Given the description of an element on the screen output the (x, y) to click on. 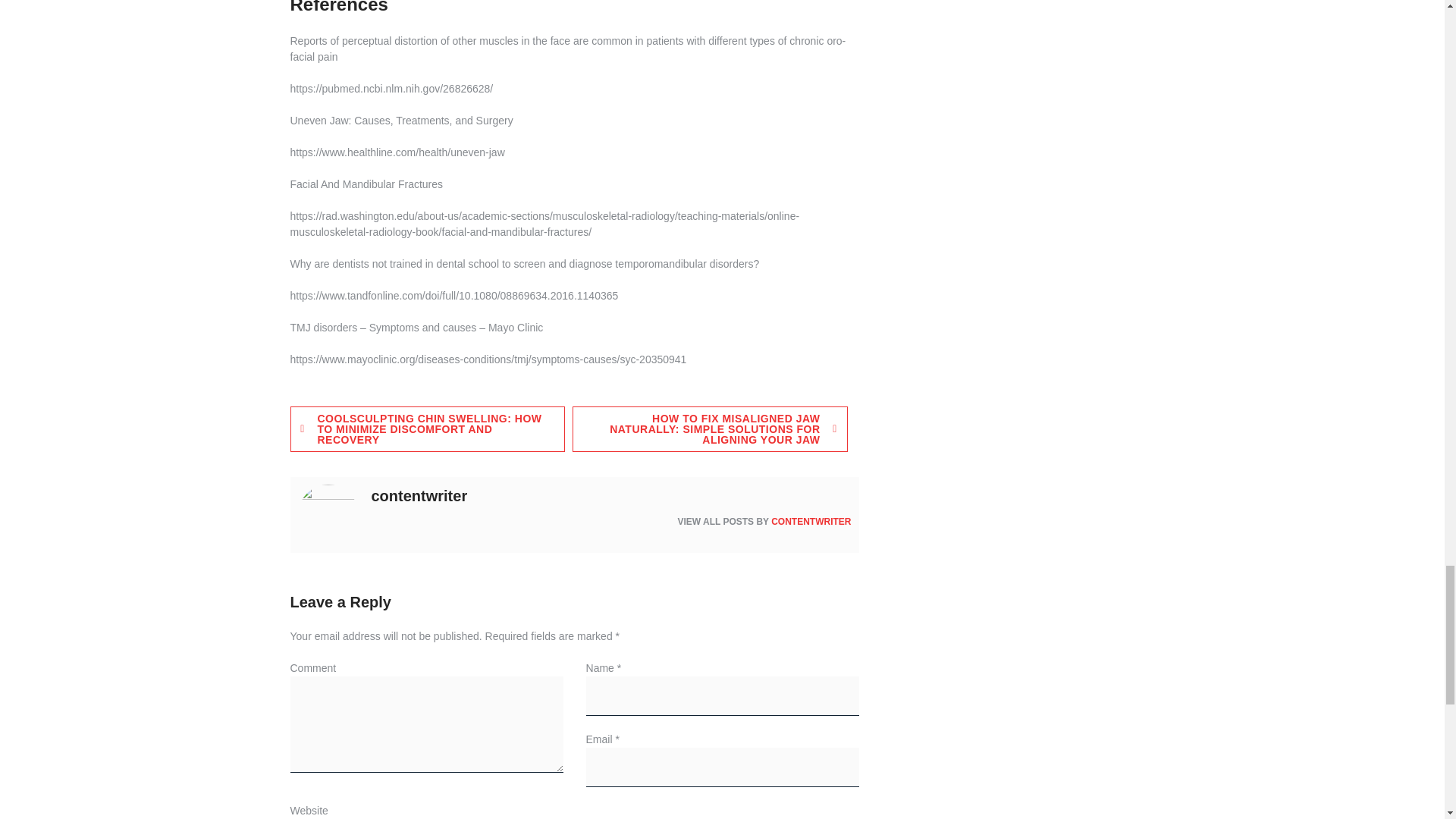
CONTENTWRITER (810, 521)
